Given the description of an element on the screen output the (x, y) to click on. 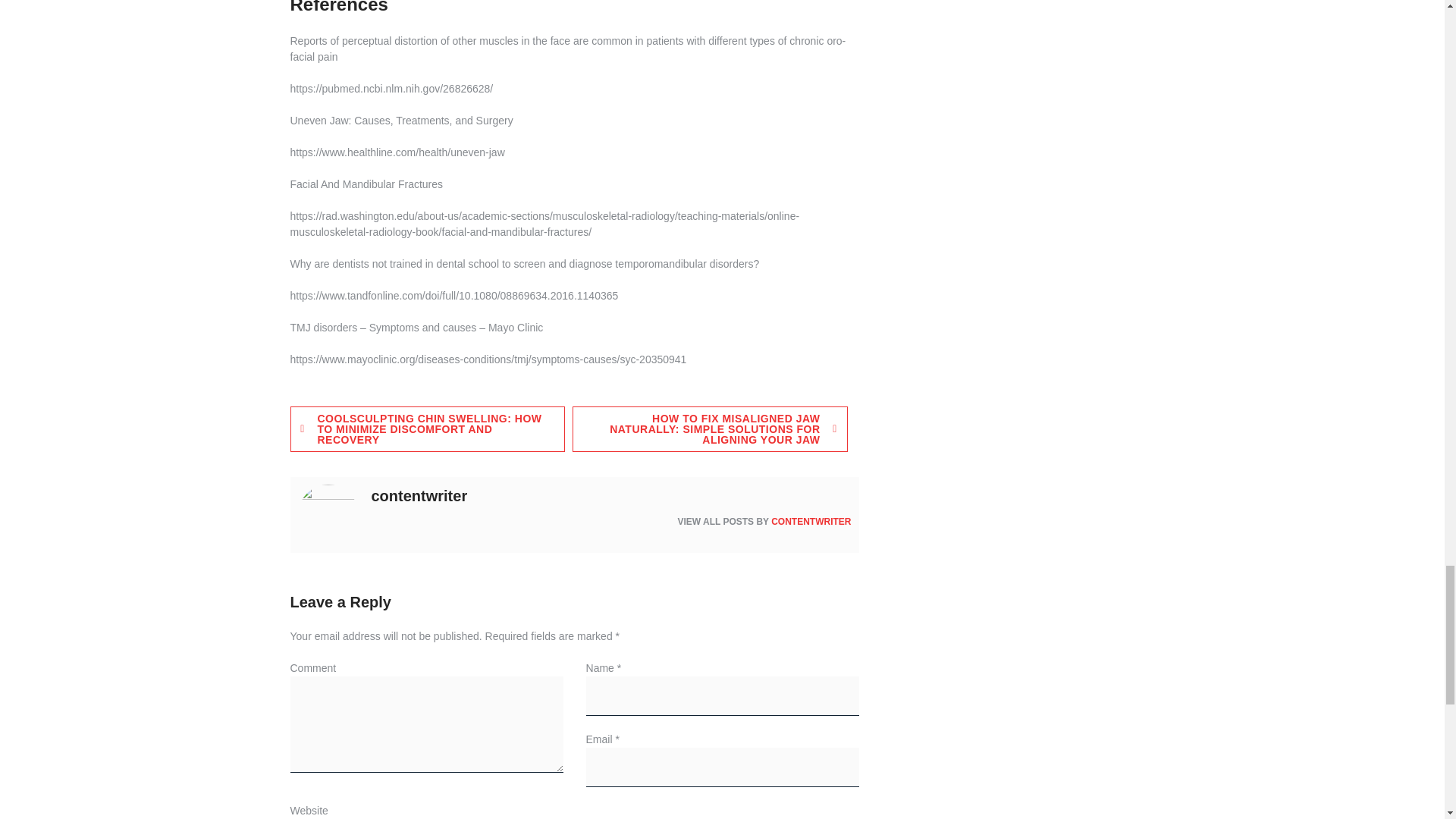
CONTENTWRITER (810, 521)
